Given the description of an element on the screen output the (x, y) to click on. 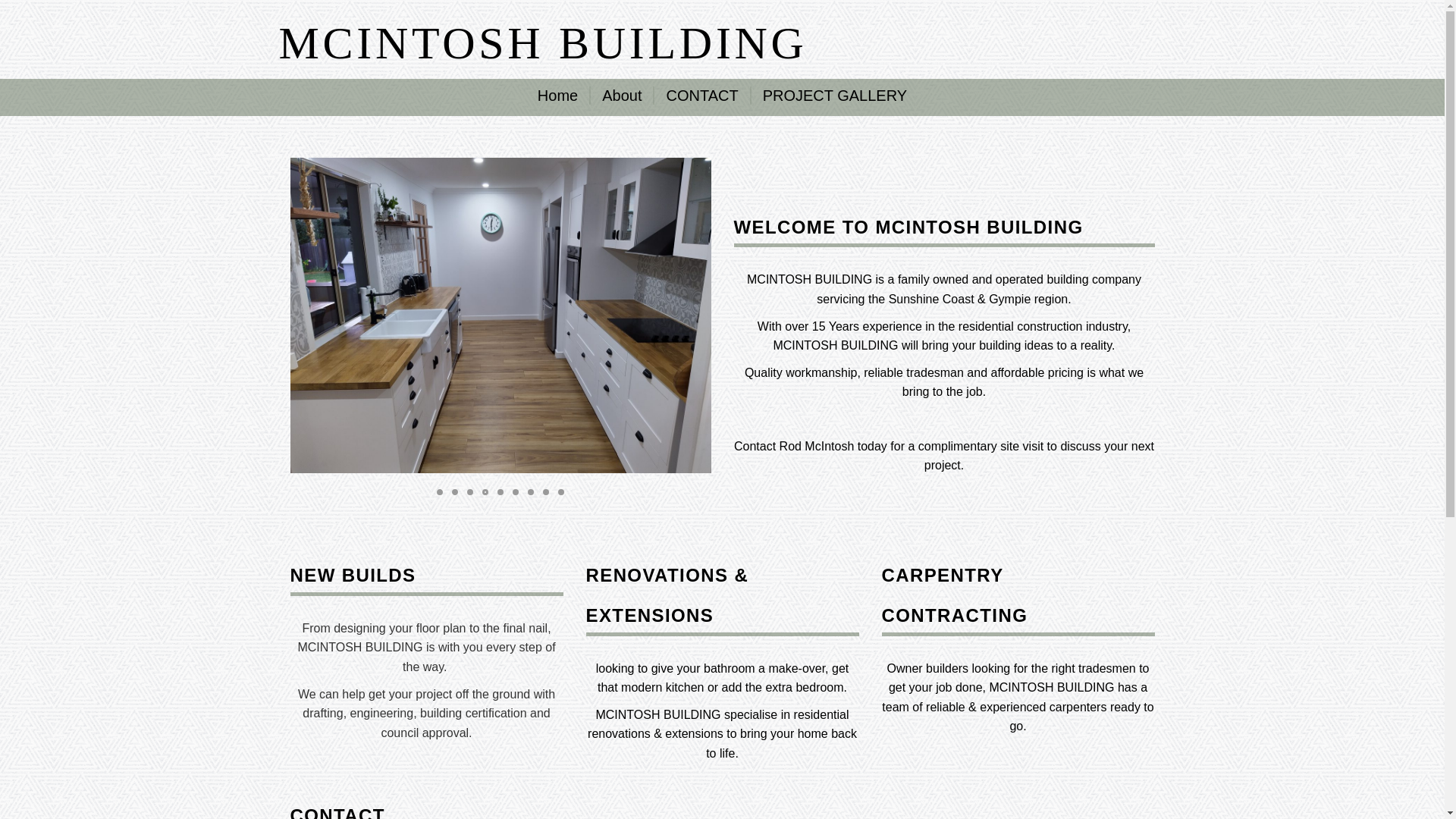
8 Element type: text (545, 492)
9 Element type: text (561, 492)
MCINTOSH BUILDING Element type: text (543, 43)
6 Element type: text (515, 492)
1 Element type: text (439, 492)
PROJECT GALLERY Element type: text (828, 95)
5 Element type: text (500, 492)
About Element type: text (622, 95)
4 Element type: text (485, 492)
3 Element type: text (470, 492)
Home Element type: text (563, 95)
CONTACT Element type: text (702, 95)
7 Element type: text (530, 492)
2 Element type: text (454, 492)
